Given the description of an element on the screen output the (x, y) to click on. 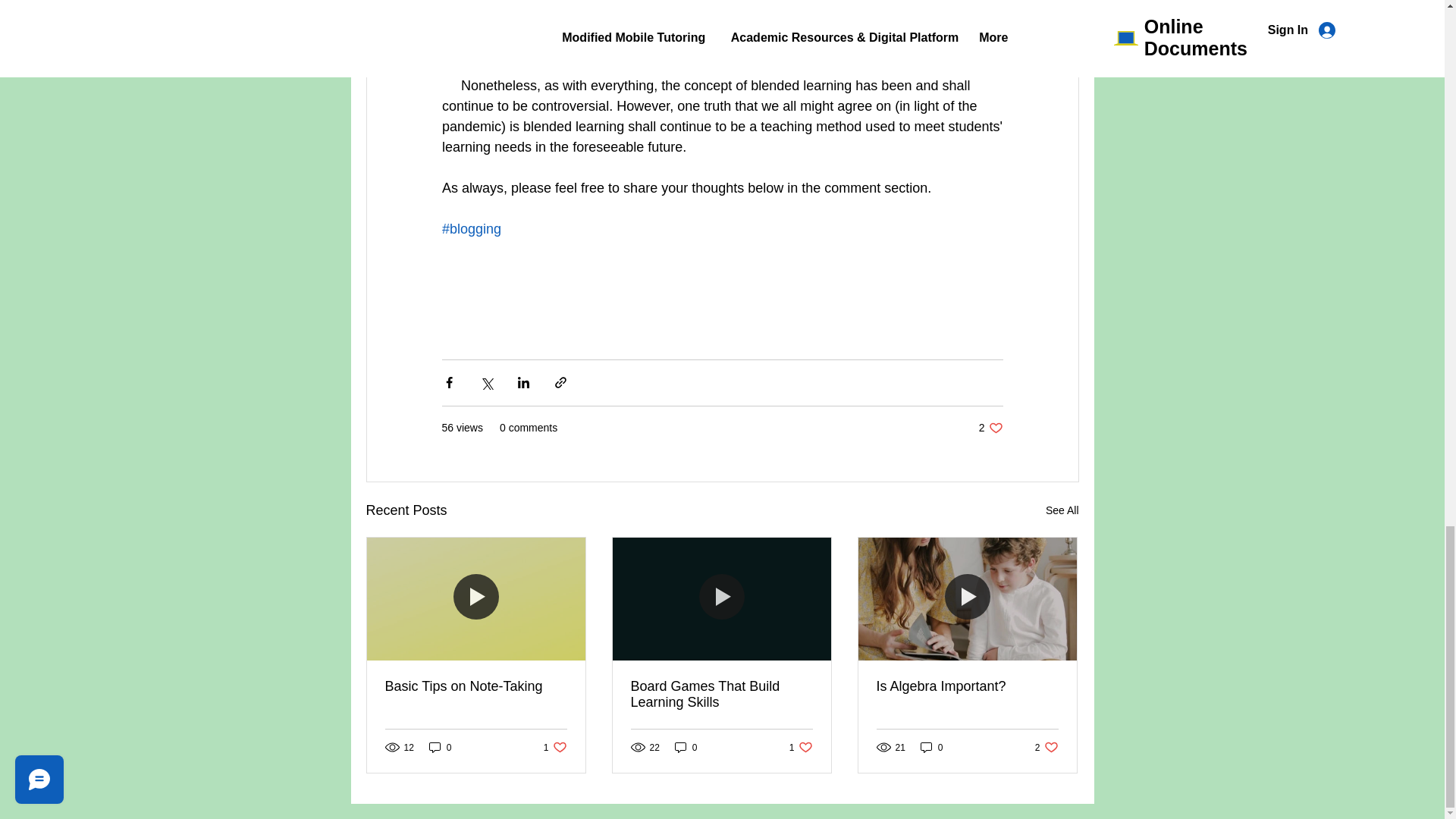
Is Algebra Important? (967, 686)
Board Games That Build Learning Skills (800, 747)
0 (990, 427)
0 (721, 694)
Basic Tips on Note-Taking (1046, 747)
0 (555, 747)
See All (931, 747)
